Given the description of an element on the screen output the (x, y) to click on. 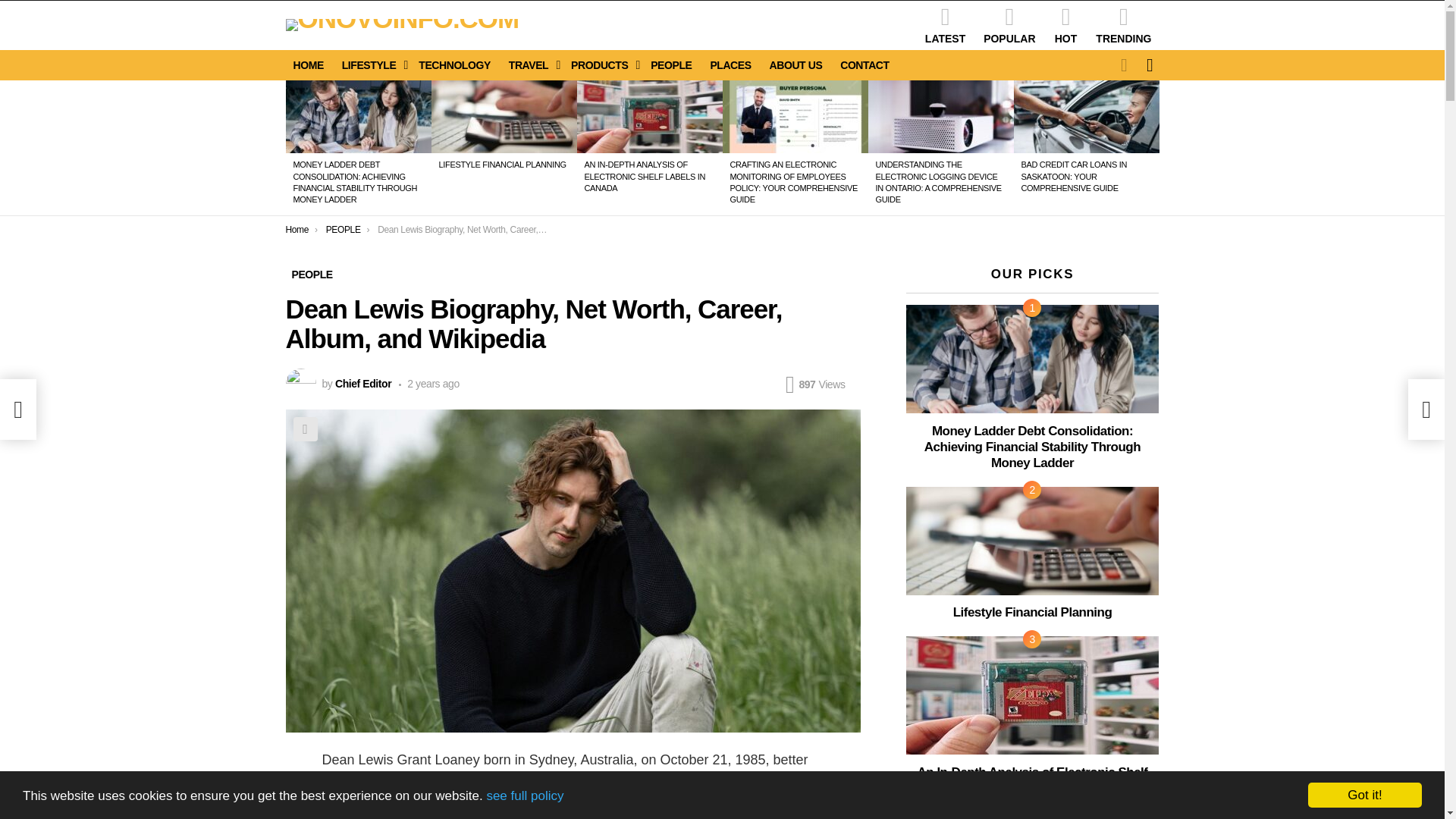
Nov 6th, 2022, 17:44 (429, 383)
AN IN-DEPTH ANALYSIS OF ELECTRONIC SHELF LABELS IN CANADA (643, 175)
An In-Depth Analysis of Electronic Shelf Labels in Canada (649, 116)
Posts by Chief Editor (362, 383)
ABOUT US (795, 65)
LIFESTYLE (371, 65)
Bad Credit Car Loans in Saskatoon: Your Comprehensive Guide (1085, 116)
HOT (1064, 24)
TECHNOLOGY (453, 65)
LIFESTYLE FINANCIAL PLANNING (502, 163)
HOME (307, 65)
PLACES (729, 65)
TRAVEL (530, 65)
TRENDING (1122, 24)
